Given the description of an element on the screen output the (x, y) to click on. 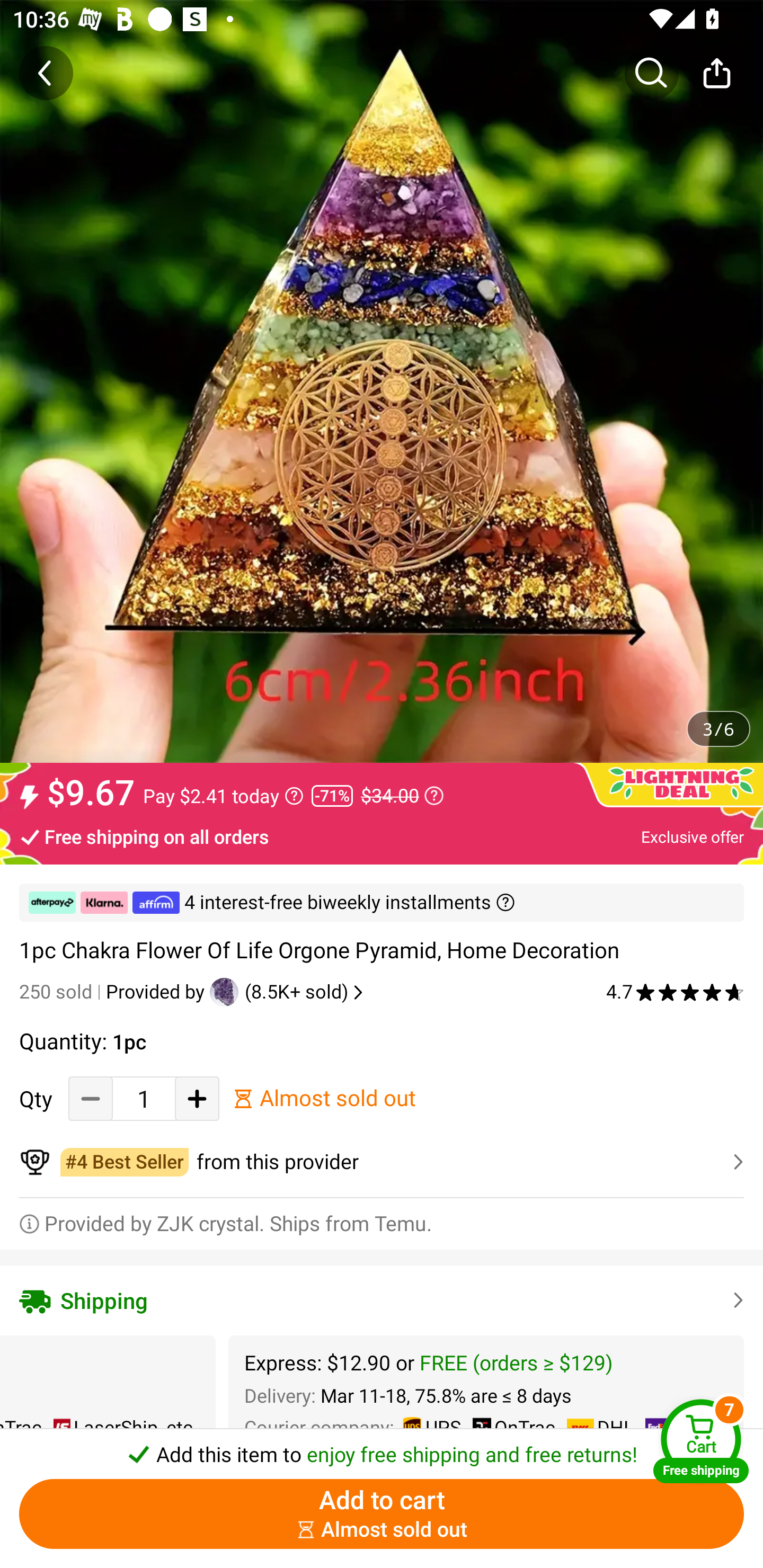
Back (46, 72)
Share (716, 72)
Pay $2.41 today   (223, 795)
Free shipping on all orders Exclusive offer (381, 836)
￼ ￼ ￼ 4 interest-free biweekly installments ￼ (381, 902)
4.7 (674, 992)
Decrease Quantity Button (90, 1098)
1 (143, 1098)
Add Quantity button (196, 1098)
￼￼from this provider (381, 1162)
Shipping (381, 1300)
Cart Free shipping Cart (701, 1440)
Add to cart ￼￼Almost sold out (381, 1513)
